Given the description of an element on the screen output the (x, y) to click on. 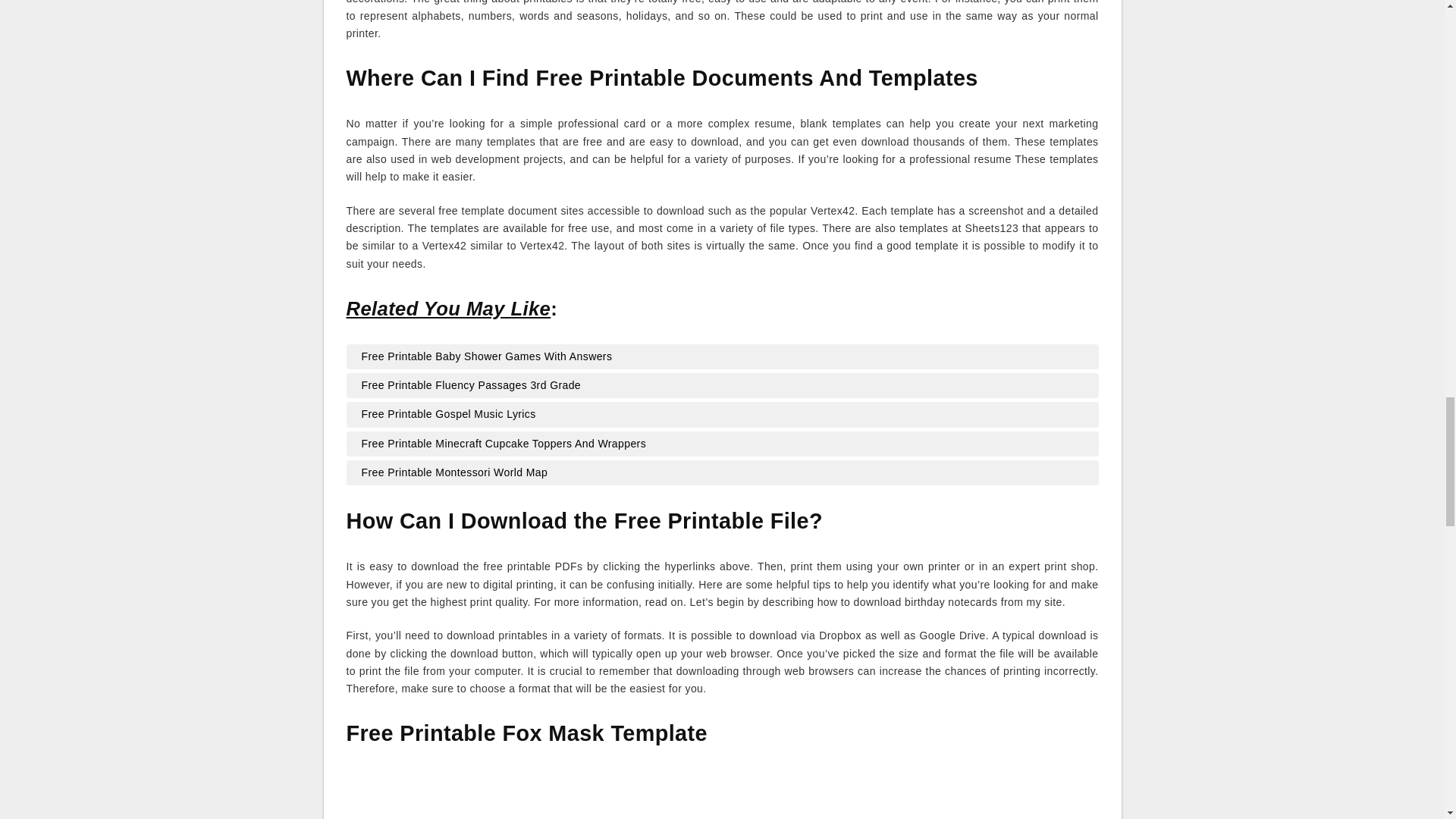
Free Printable Fluency Passages 3rd Grade (721, 385)
Free Printable Baby Shower Games With Answers (721, 356)
Free Printable Montessori World Map (721, 472)
Free Printable Minecraft Cupcake Toppers And Wrappers (721, 444)
Free Printable Gospel Music Lyrics (721, 414)
